Given the description of an element on the screen output the (x, y) to click on. 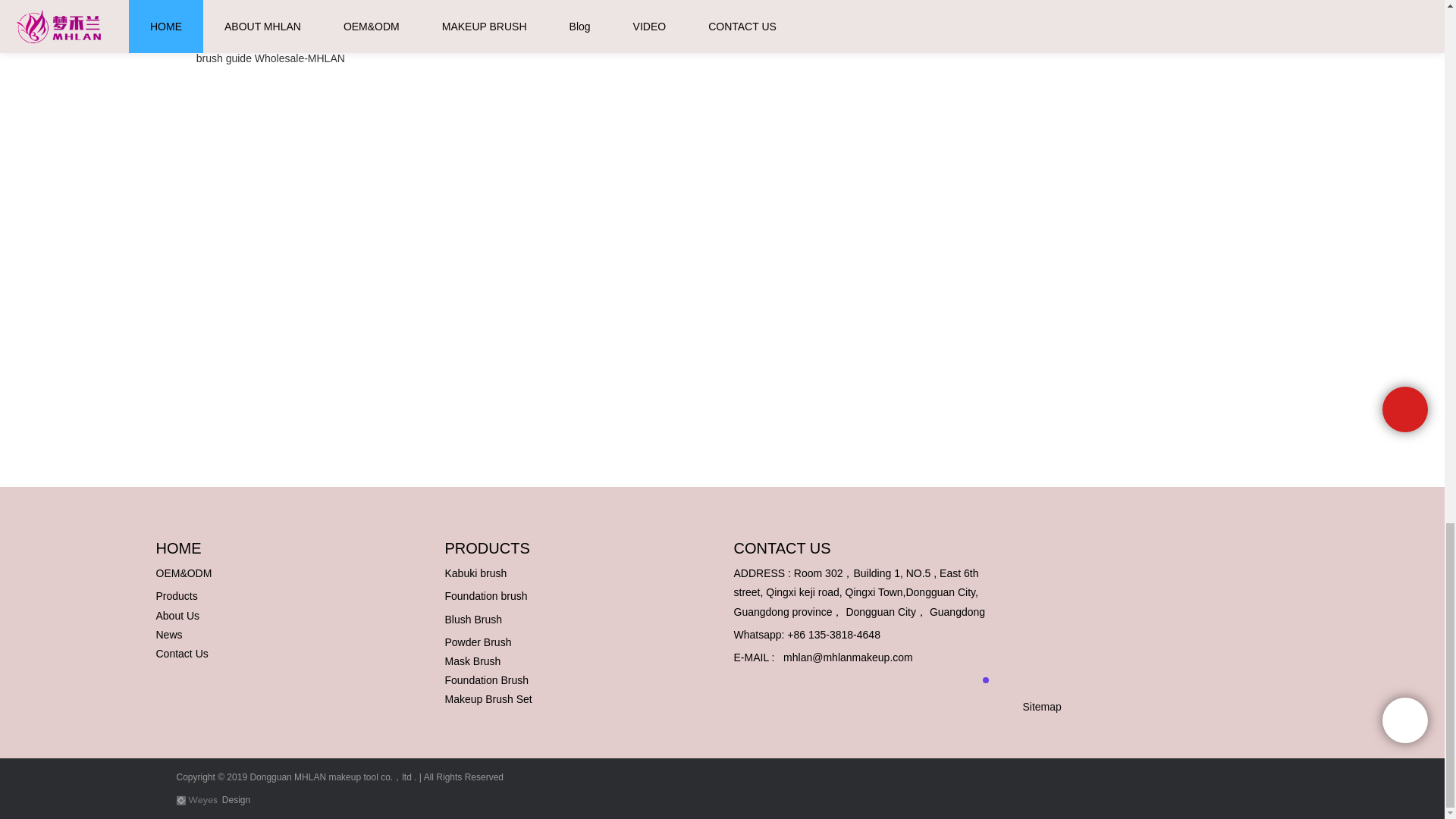
Products (176, 595)
About Us (177, 615)
